Given the description of an element on the screen output the (x, y) to click on. 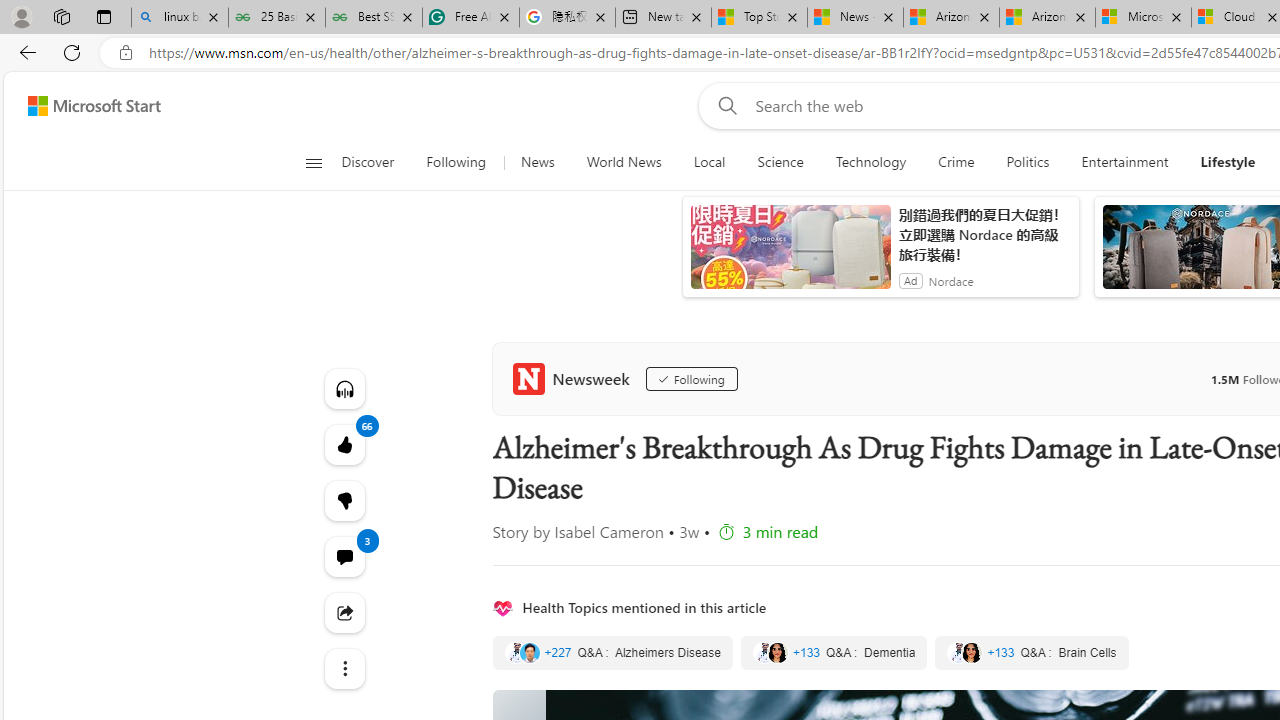
Brain cells (1031, 652)
66 Like (343, 444)
Dementia (833, 652)
66 (343, 500)
anim-content (789, 255)
